Given the description of an element on the screen output the (x, y) to click on. 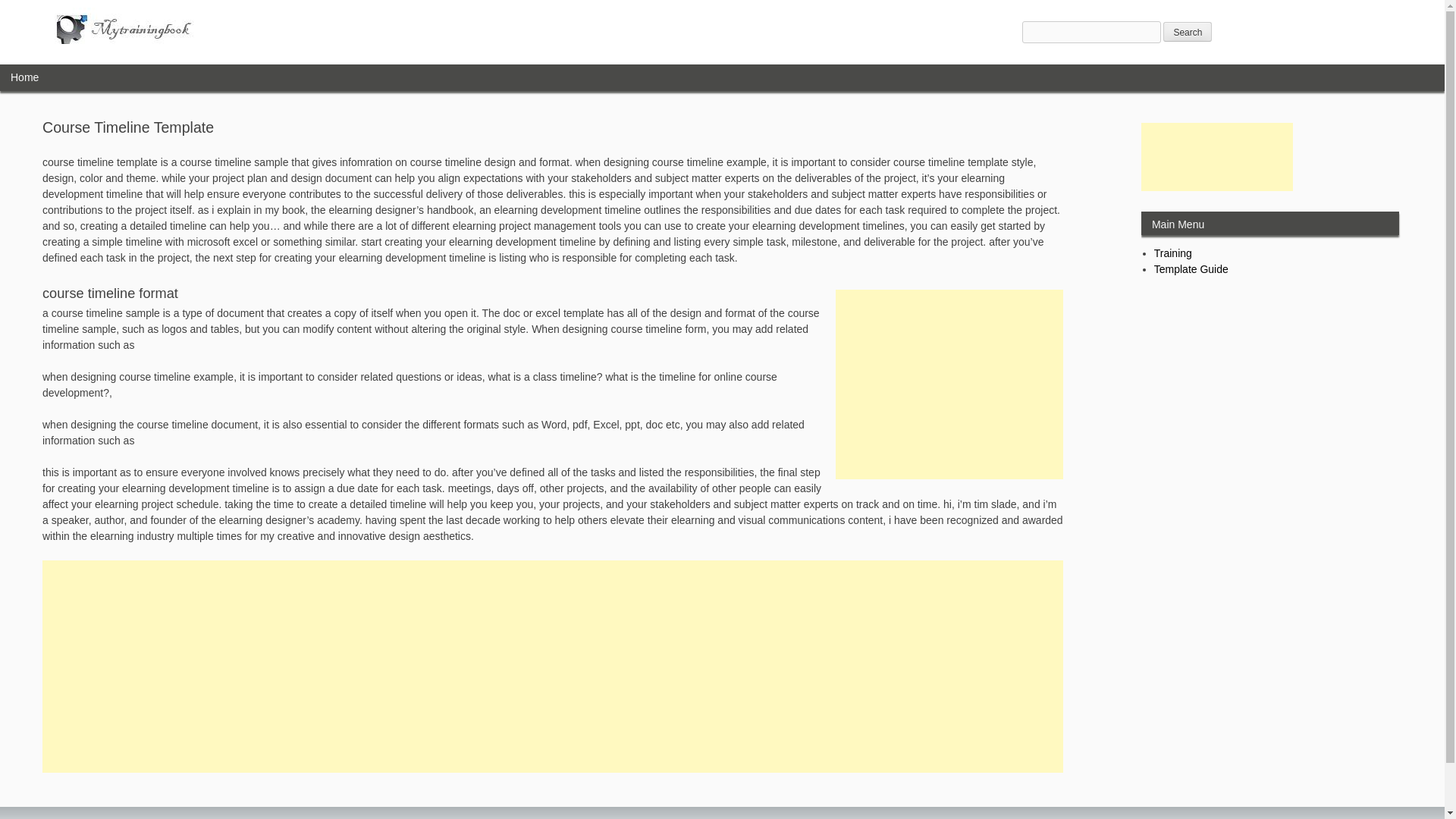
Contact Us (1366, 818)
Template Guide (1191, 268)
Training (1173, 253)
Privacy Policy (1311, 818)
Search (1187, 31)
Advertisement (948, 384)
Advertisement (1216, 156)
Home (24, 77)
Search (1187, 31)
